Given the description of an element on the screen output the (x, y) to click on. 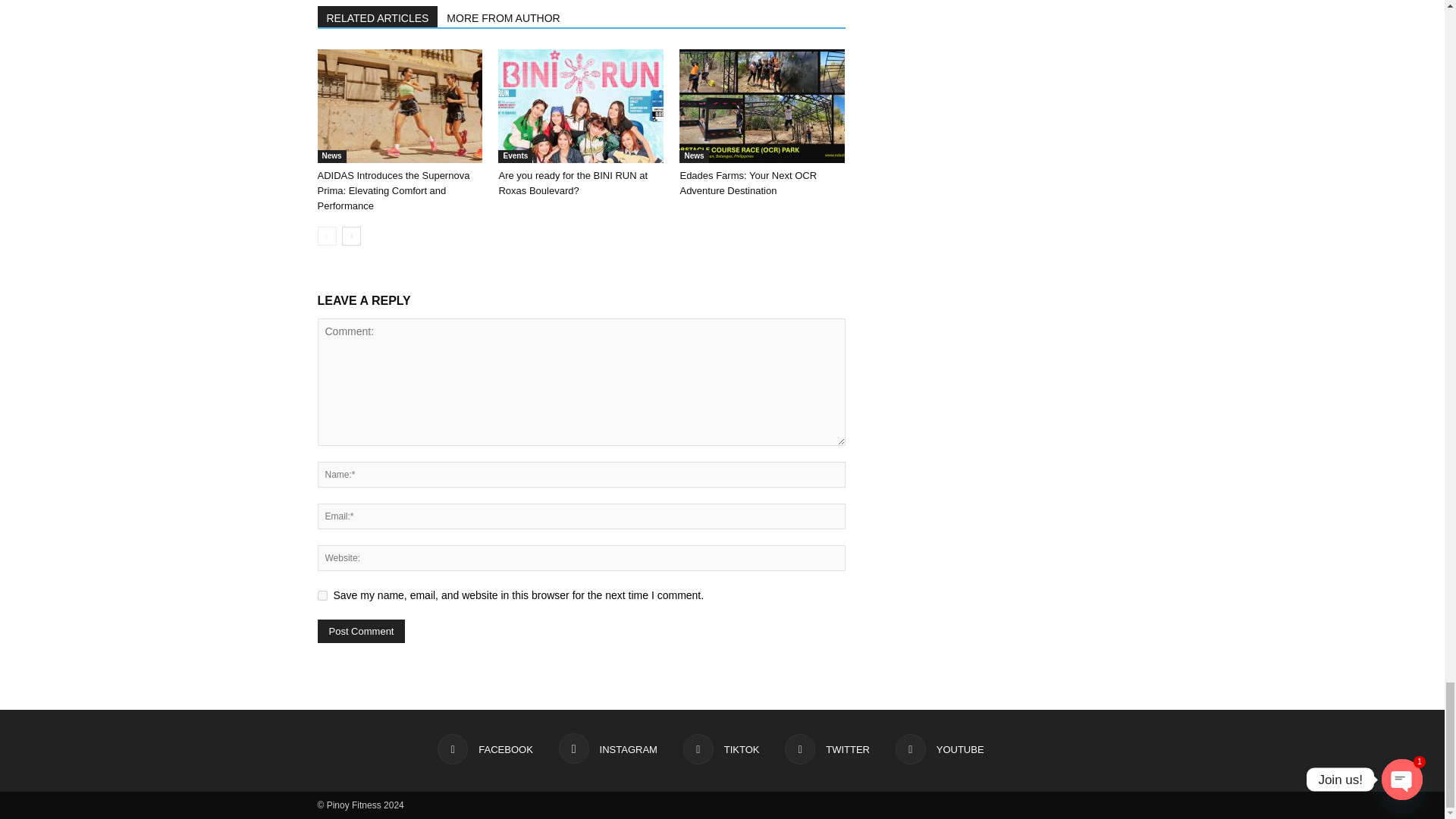
Post Comment (360, 630)
yes (321, 595)
